Given the description of an element on the screen output the (x, y) to click on. 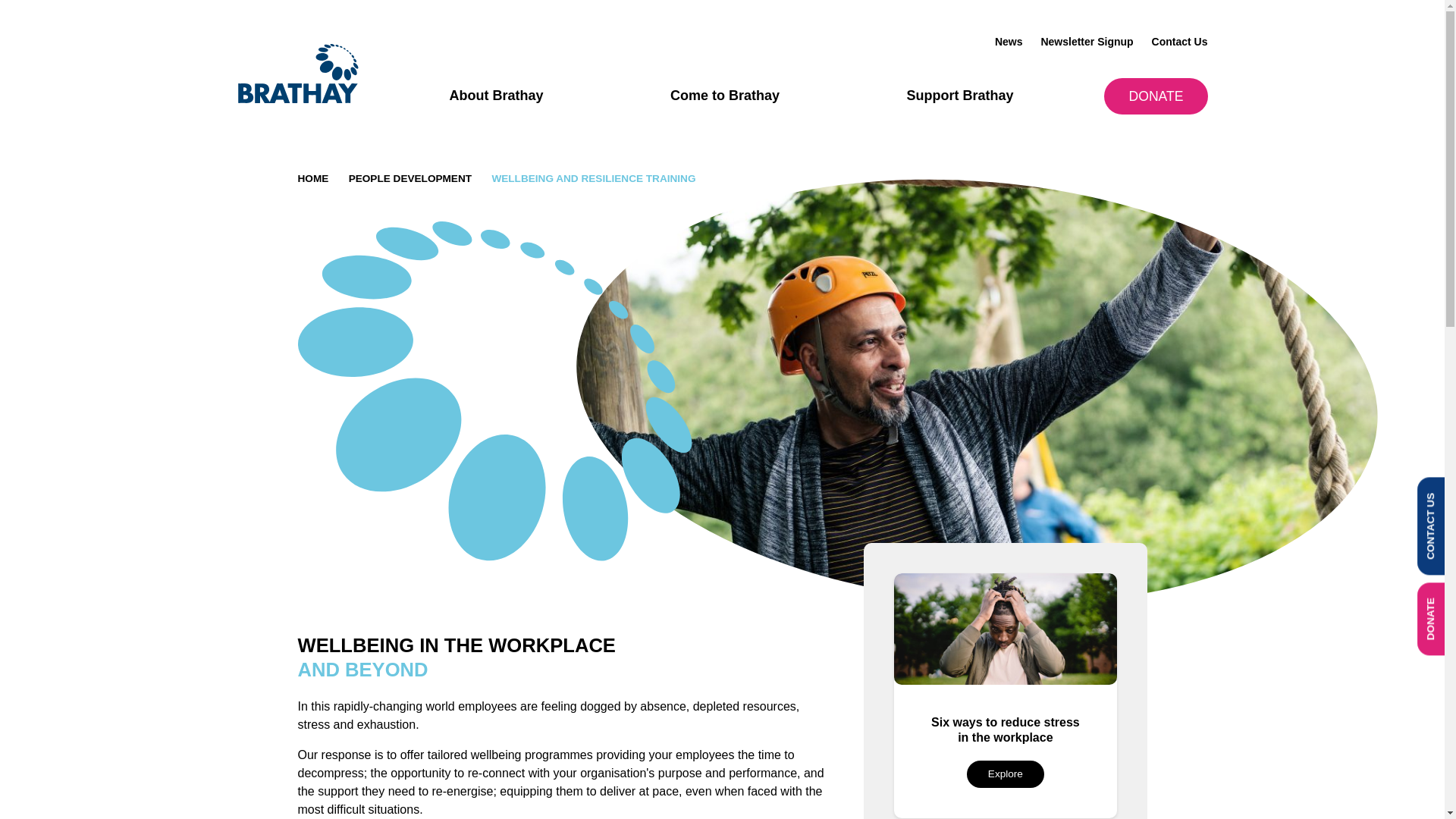
Support Brathay (959, 95)
Explore (1004, 773)
News (1008, 41)
Come to Brathay (723, 95)
Contact Us (1179, 41)
HOME (313, 178)
Newsletter Signup (1086, 41)
About Brathay (495, 95)
DONATE (1155, 95)
PEOPLE DEVELOPMENT (410, 178)
